Given the description of an element on the screen output the (x, y) to click on. 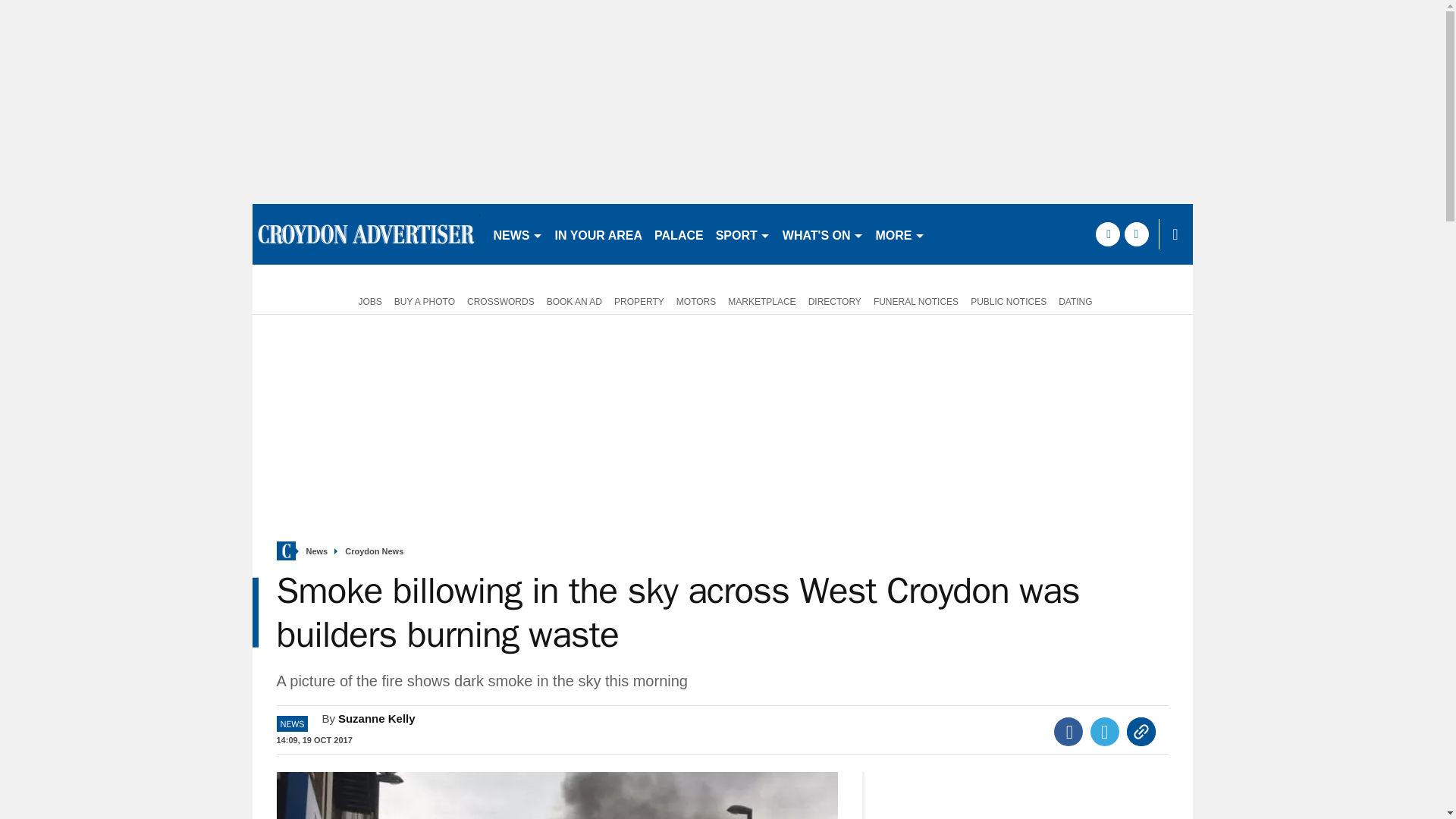
WHAT'S ON (822, 233)
BOOK AN AD (574, 300)
croydonadvertiser (365, 233)
IN YOUR AREA (598, 233)
facebook (1106, 233)
CROSSWORDS (500, 300)
Facebook (1068, 731)
MORE (900, 233)
JOBS (366, 300)
BUY A PHOTO (424, 300)
SPORT (743, 233)
PALACE (678, 233)
twitter (1136, 233)
Twitter (1104, 731)
NEWS (517, 233)
